Given the description of an element on the screen output the (x, y) to click on. 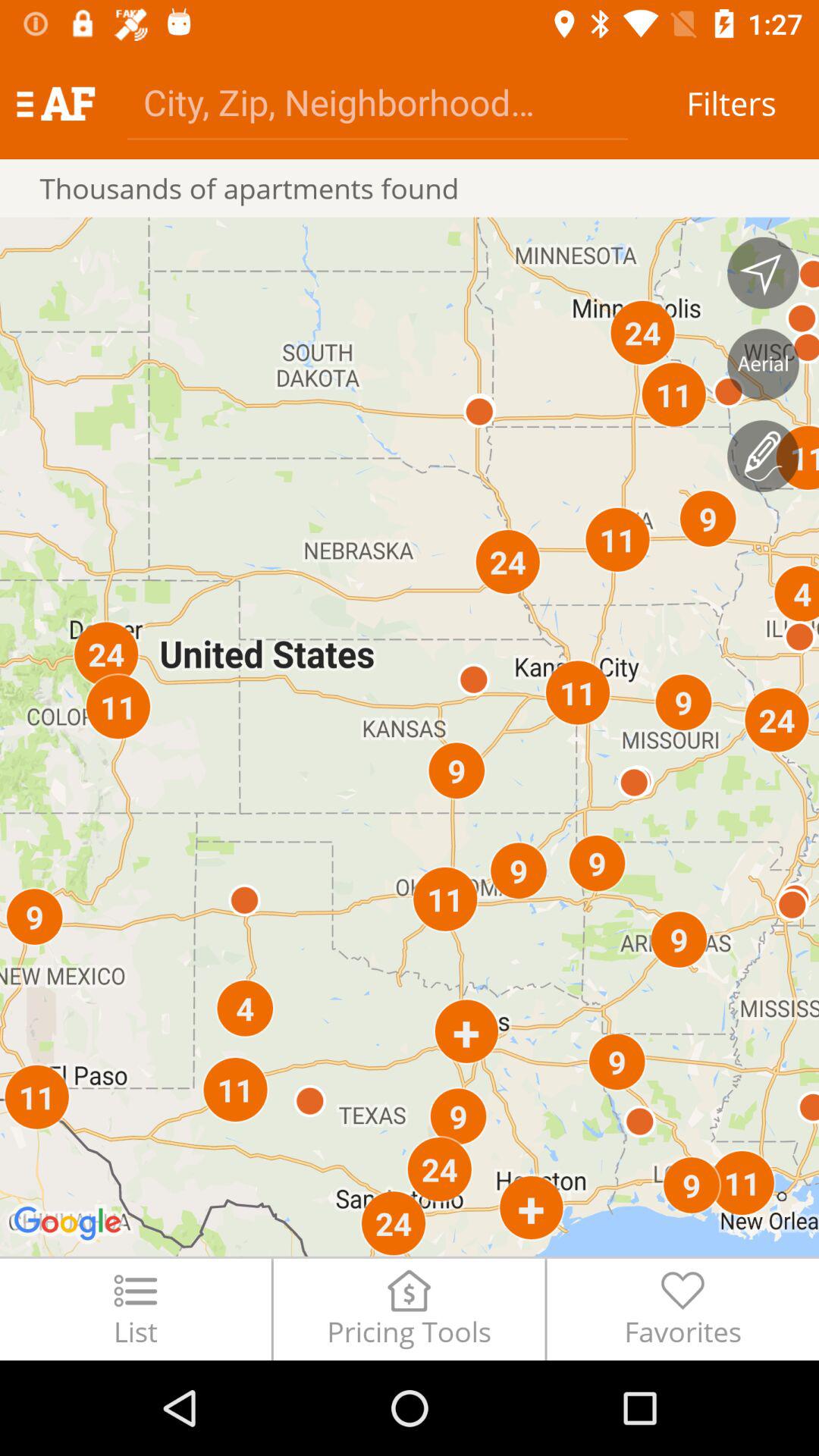
enter address (377, 102)
